Given the description of an element on the screen output the (x, y) to click on. 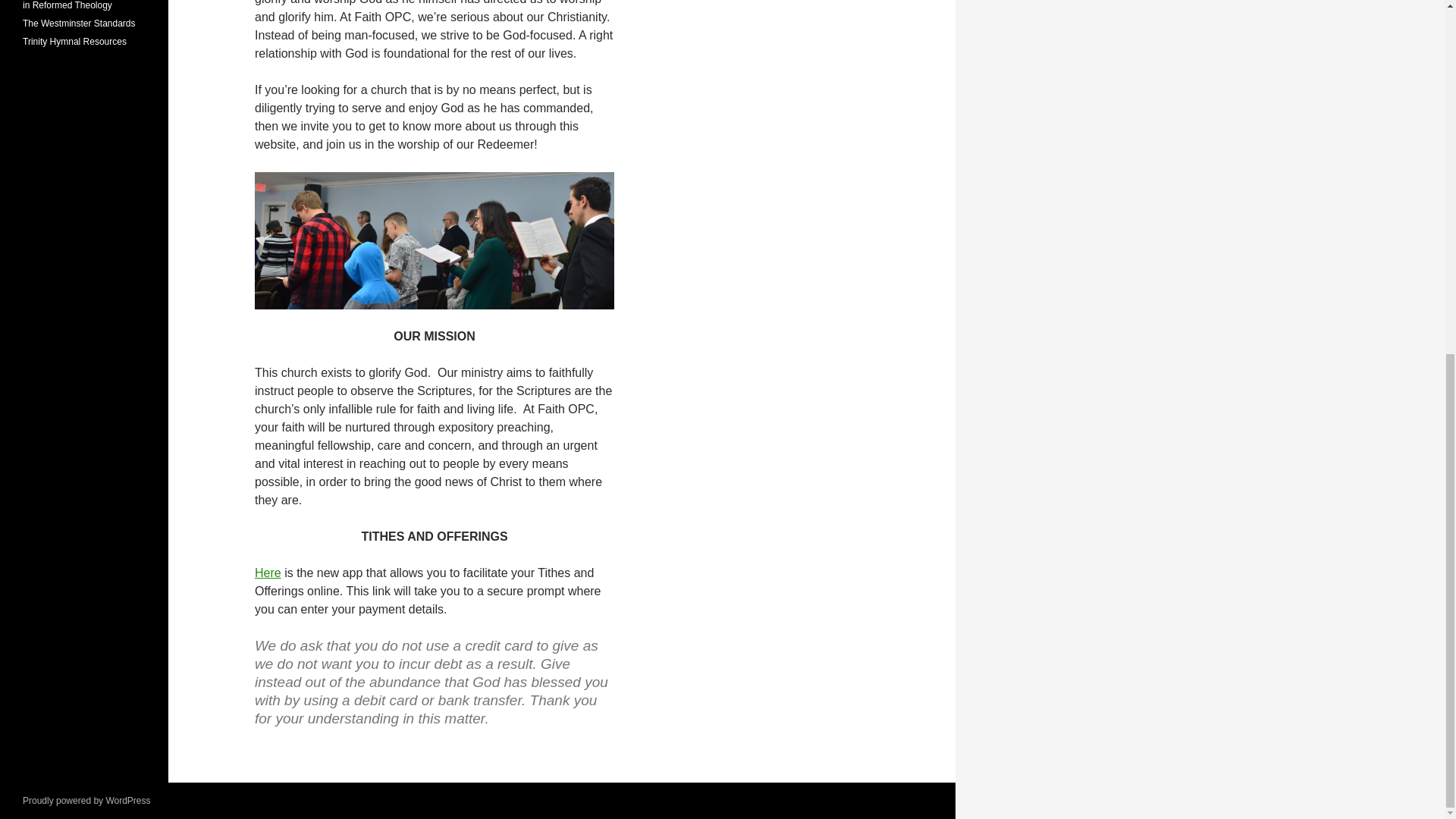
The Doctrine of the Covenant in Reformed Theology (82, 5)
by Geerhardus Vos (82, 5)
The Westminster Standards (79, 23)
Proudly powered by WordPress (87, 800)
Here (267, 572)
Trinity Hymnal Resources (74, 41)
